Given the description of an element on the screen output the (x, y) to click on. 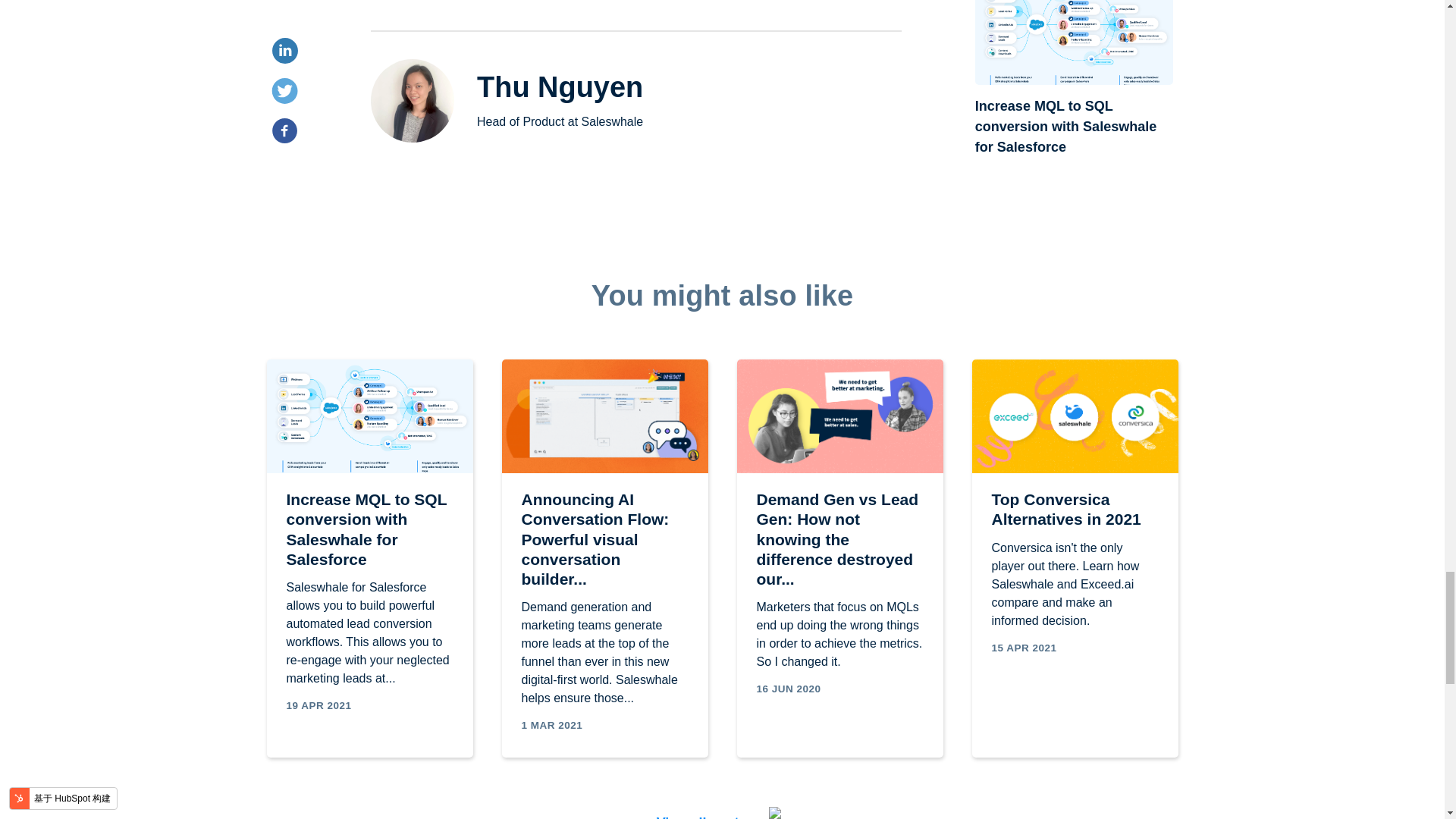
Thu Nguyen (560, 87)
